Given the description of an element on the screen output the (x, y) to click on. 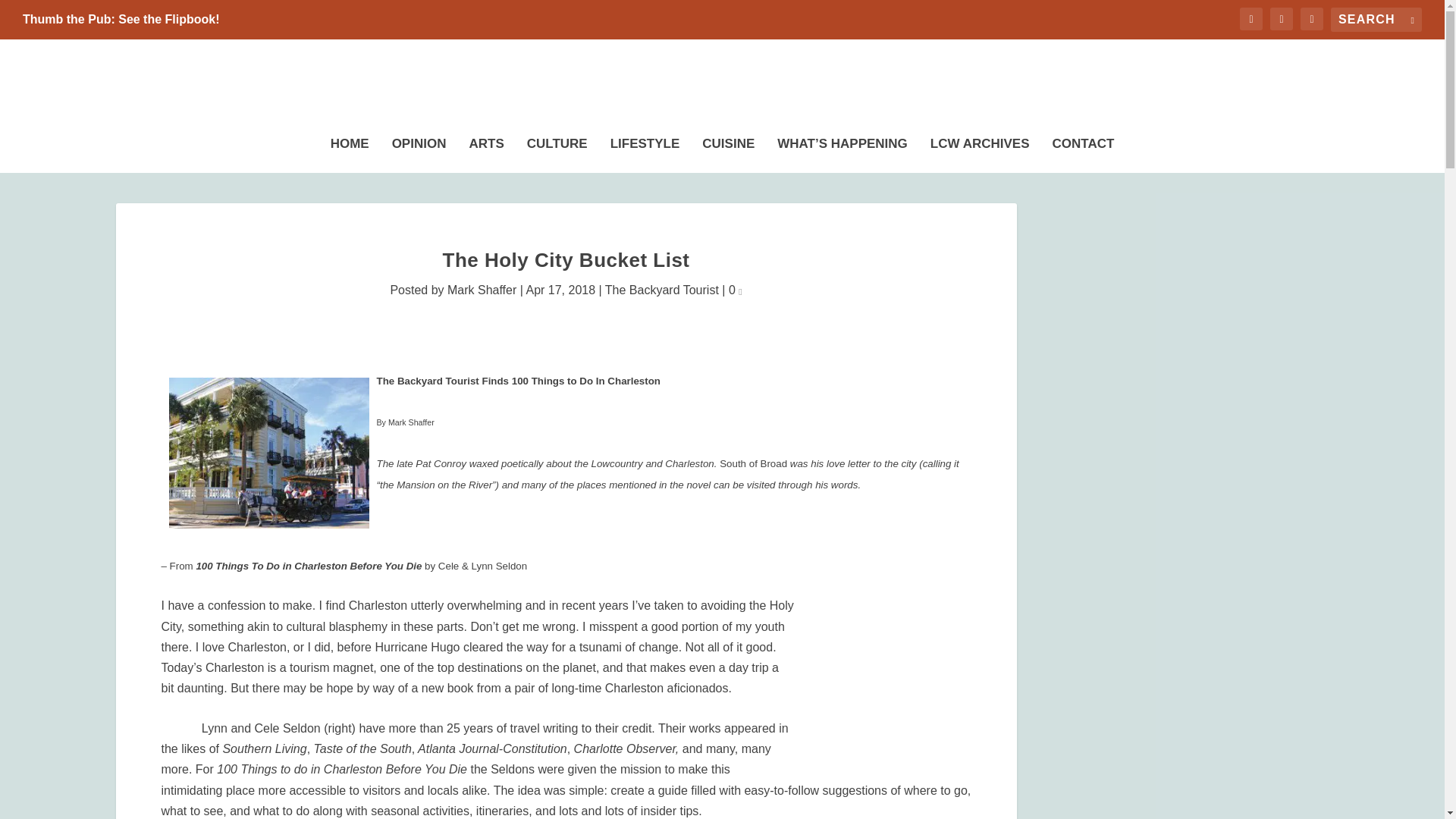
CULTURE (557, 151)
OPINION (418, 151)
LCW ARCHIVES (979, 151)
0 (735, 289)
The Backyard Tourist (662, 289)
CONTACT (1083, 151)
LIFESTYLE (644, 151)
Mark Shaffer (481, 289)
CUISINE (727, 151)
Search for: (1376, 19)
